Given the description of an element on the screen output the (x, y) to click on. 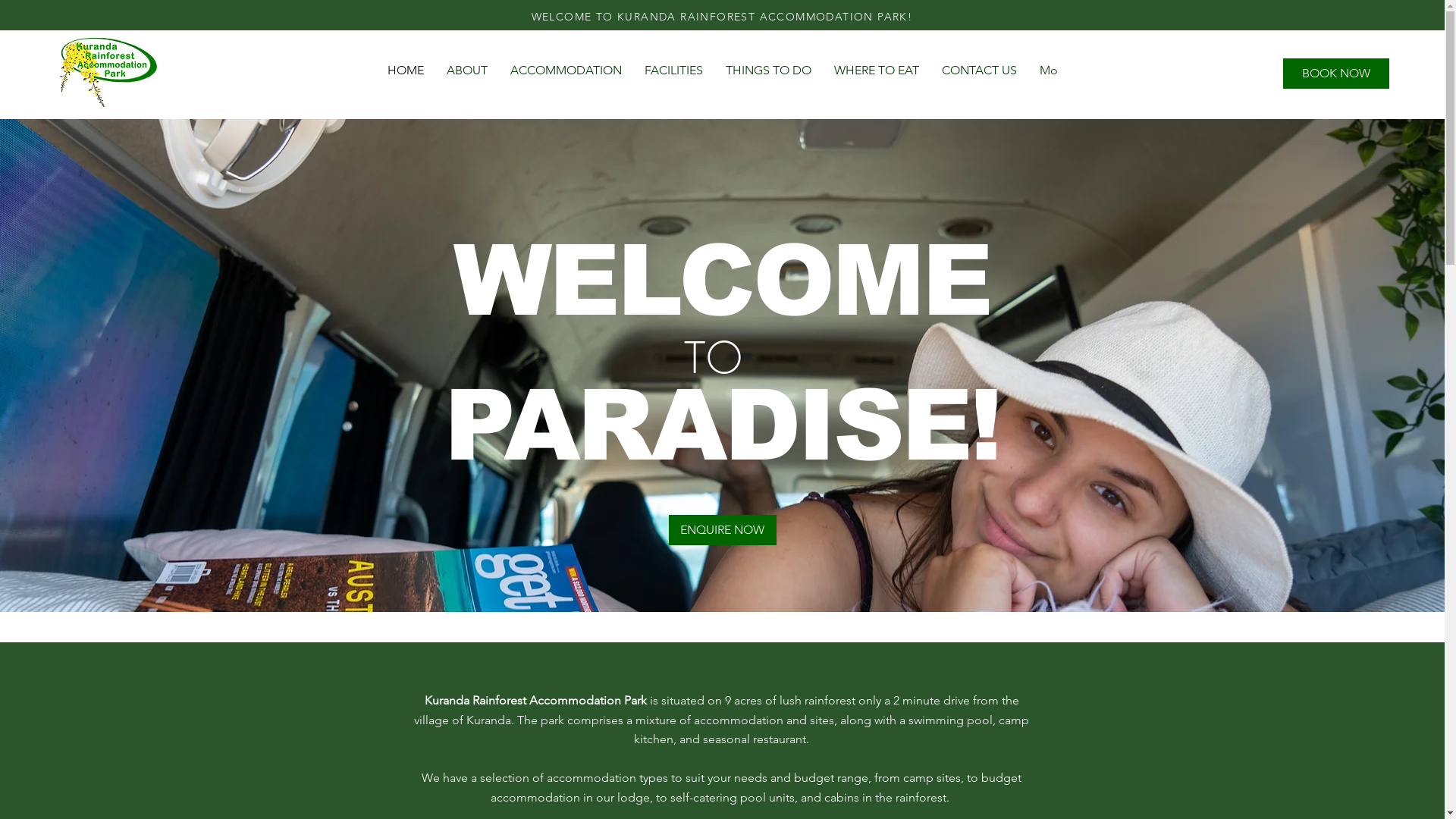
Picture1.png Element type: hover (107, 70)
HOME Element type: text (405, 70)
ENQUIRE NOW Element type: text (722, 529)
ACCOMMODATION Element type: text (565, 70)
FACILITIES Element type: text (672, 70)
THINGS TO DO Element type: text (768, 70)
WHERE TO EAT Element type: text (875, 70)
CONTACT US Element type: text (978, 70)
BOOK NOW Element type: text (1336, 73)
ABOUT Element type: text (466, 70)
